Given the description of an element on the screen output the (x, y) to click on. 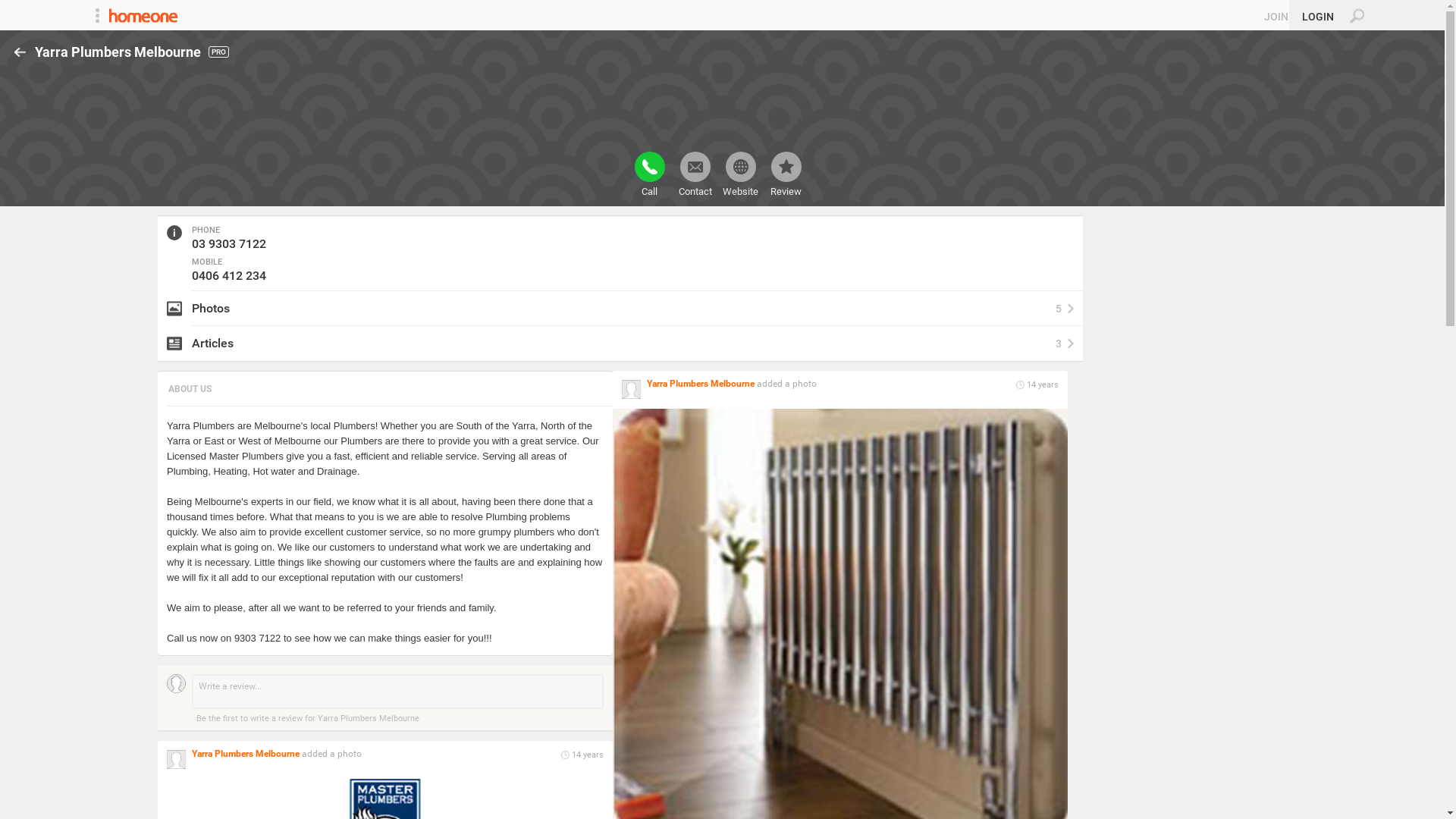
Yarra Plumbers Melbourne Element type: text (700, 383)
Submit Element type: text (18, 8)
Website Element type: text (739, 174)
03 9303 7122 Element type: text (228, 243)
0406 412 234 Element type: text (228, 275)
3
Articles Element type: text (619, 343)
5
Photos Element type: text (619, 308)
Yarra Plumbers Melbourne Element type: text (245, 753)
Call Element type: text (648, 174)
